Given the description of an element on the screen output the (x, y) to click on. 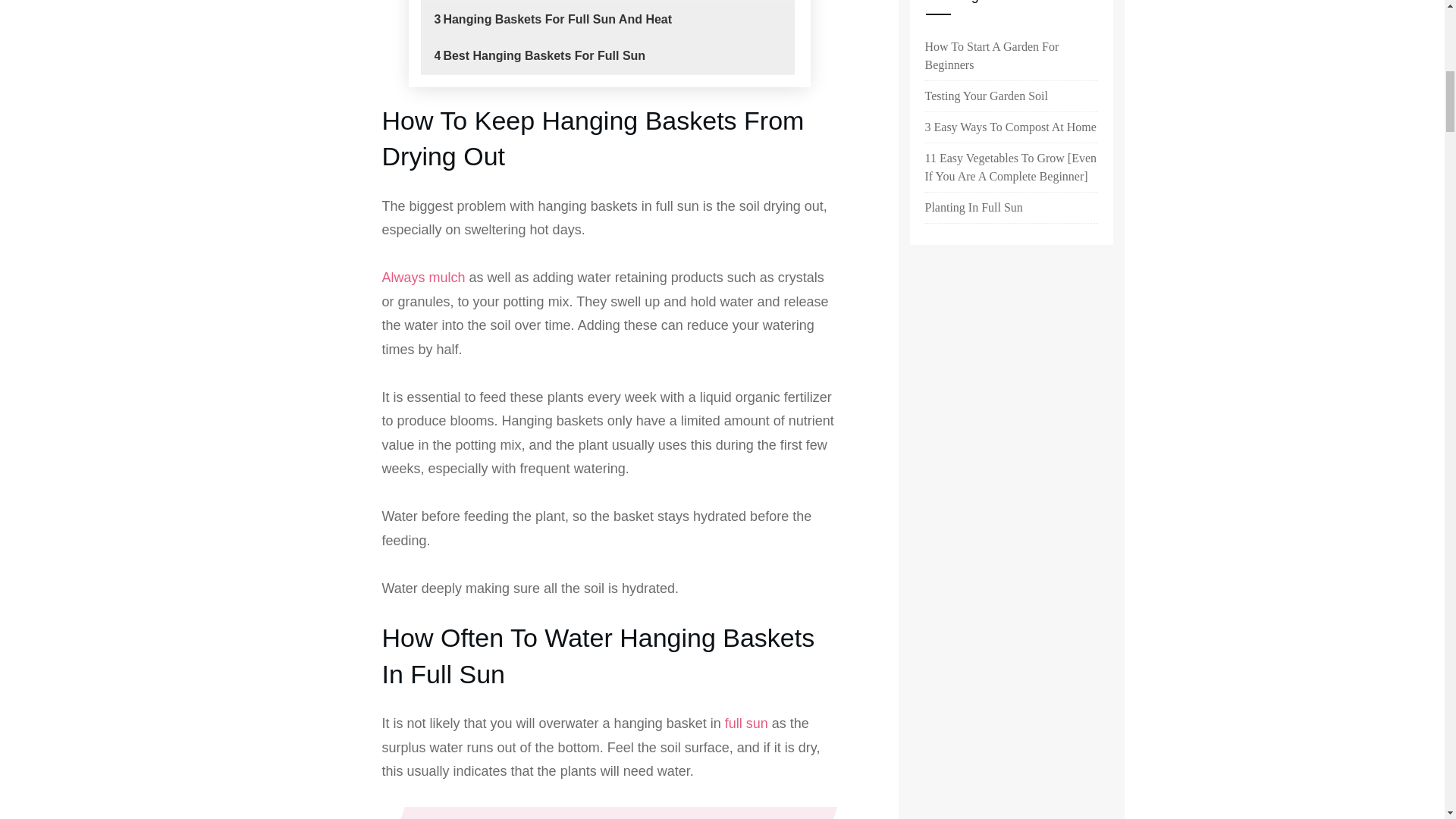
Best Hanging Baskets For Full Sun (543, 55)
Hanging Baskets For Full Sun And Heat (556, 19)
Hanging Baskets For Full Sun And Heat (556, 19)
Testing Your Garden Soil (986, 95)
How To Start A Garden For Beginners (1010, 55)
Best Hanging Baskets For Full Sun (543, 55)
Always mulch (423, 277)
full sun (746, 723)
